Given the description of an element on the screen output the (x, y) to click on. 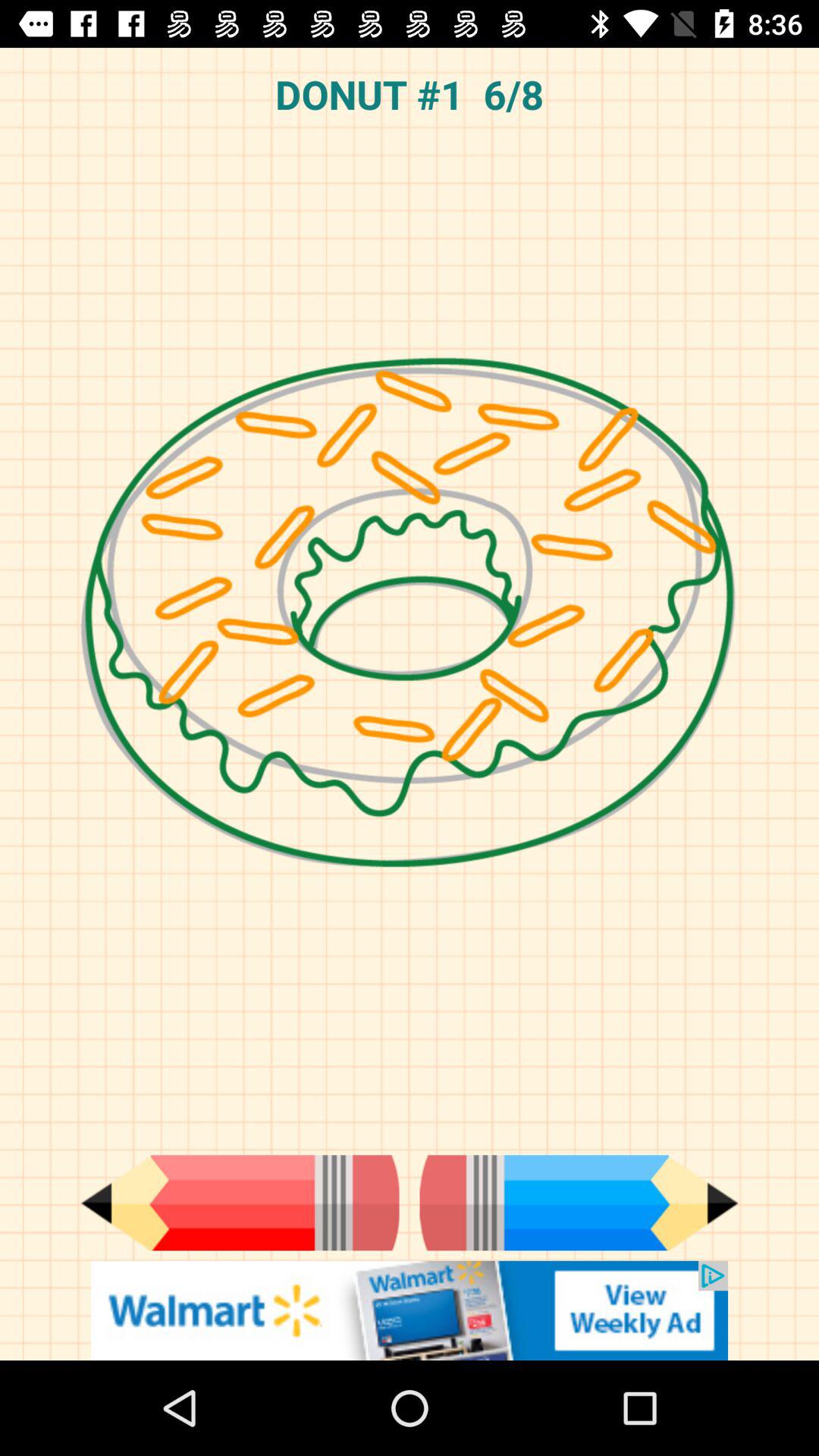
come back (239, 1202)
